Given the description of an element on the screen output the (x, y) to click on. 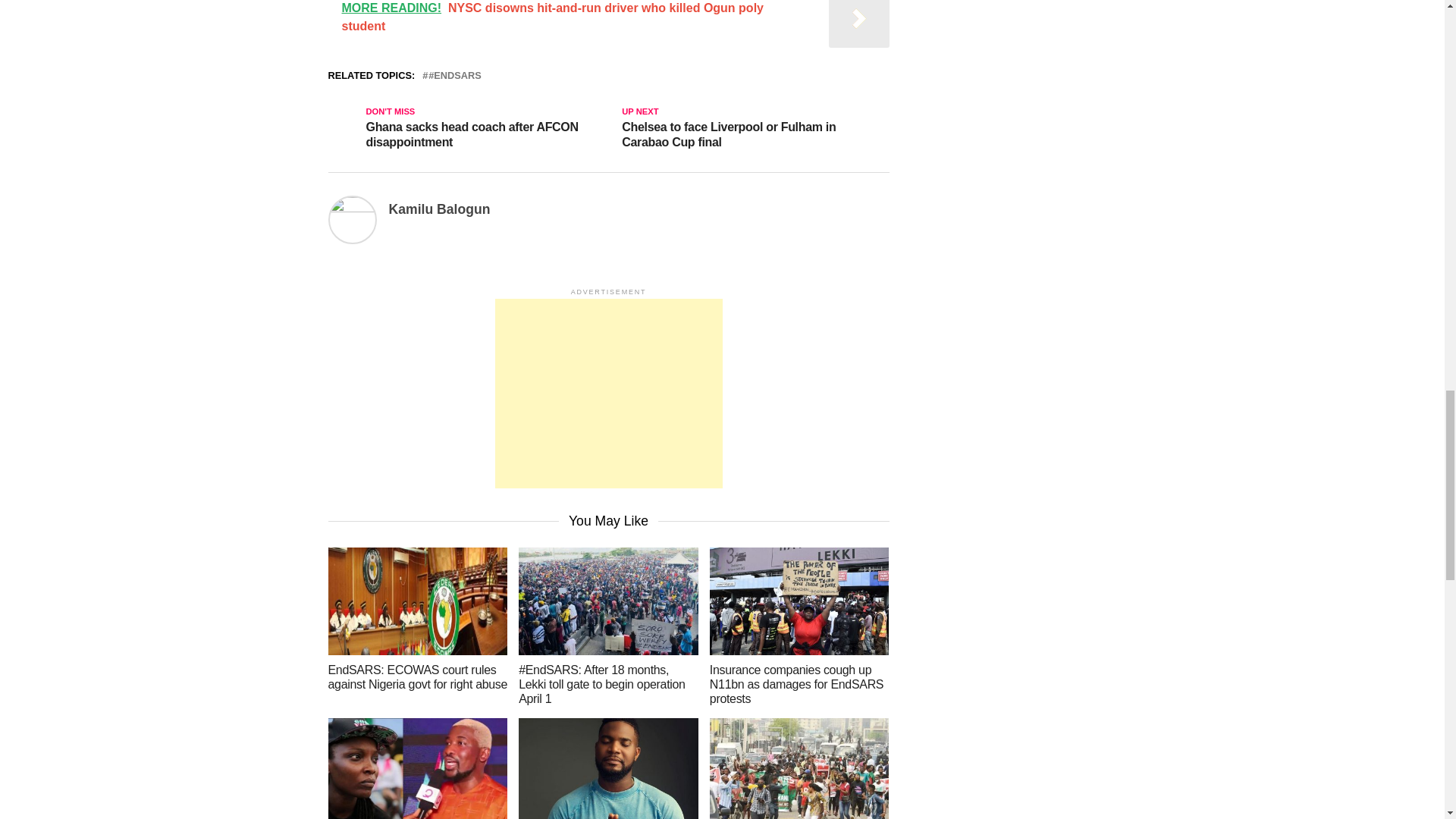
Posts by Kamilu Balogun (438, 209)
